Given the description of an element on the screen output the (x, y) to click on. 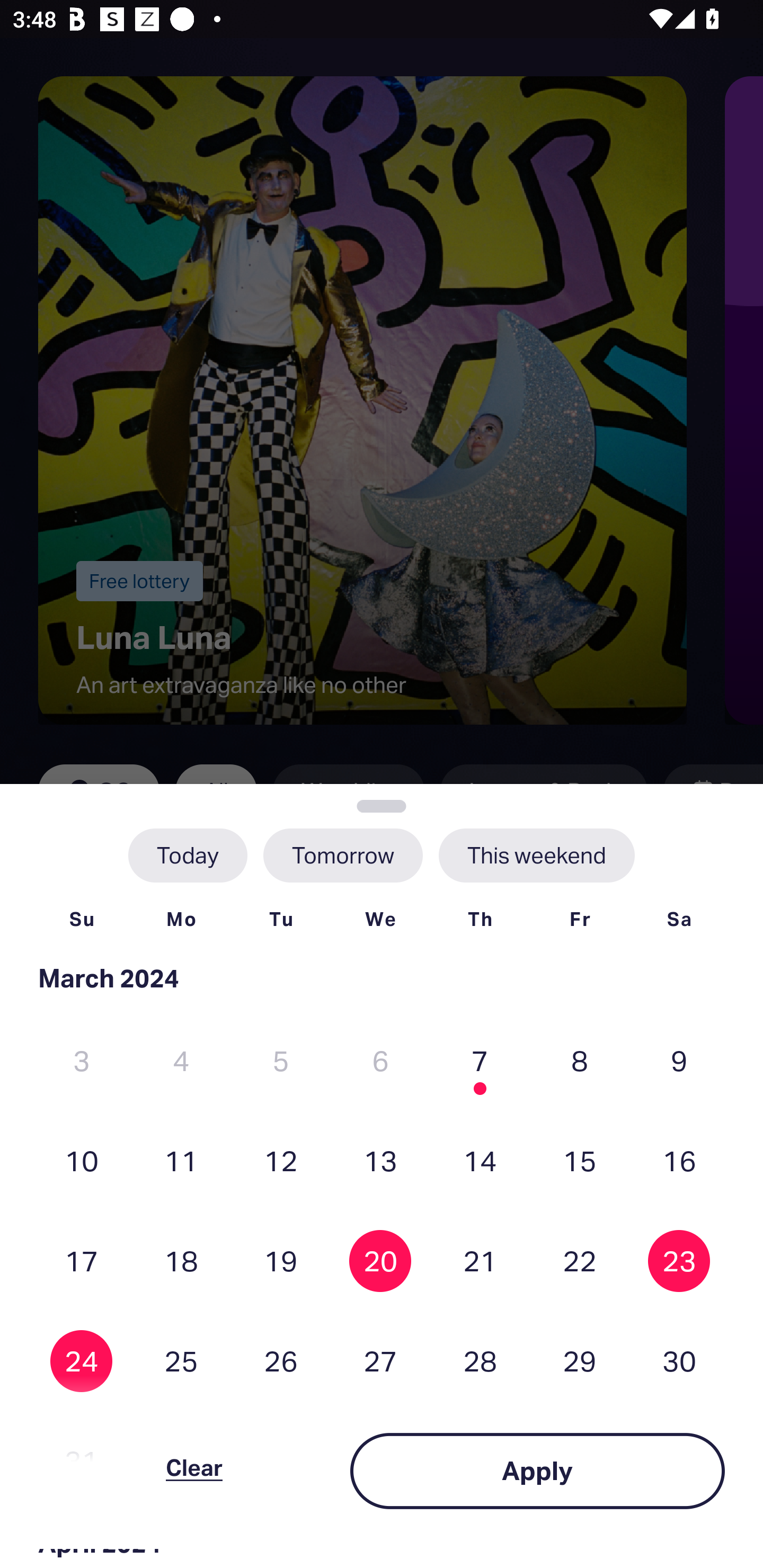
Today (187, 854)
Tomorrow (342, 854)
This weekend (536, 854)
3 (81, 1060)
4 (181, 1060)
5 (280, 1060)
6 (380, 1060)
7 (479, 1060)
8 (579, 1060)
9 (678, 1060)
10 (81, 1160)
11 (181, 1160)
12 (280, 1160)
13 (380, 1160)
14 (479, 1160)
15 (579, 1160)
16 (678, 1160)
17 (81, 1260)
18 (181, 1260)
19 (280, 1260)
20 (380, 1260)
21 (479, 1260)
22 (579, 1260)
23 (678, 1260)
24 (81, 1360)
25 (181, 1360)
26 (280, 1360)
27 (380, 1360)
28 (479, 1360)
29 (579, 1360)
30 (678, 1360)
Clear (194, 1470)
Apply (537, 1470)
